Given the description of an element on the screen output the (x, y) to click on. 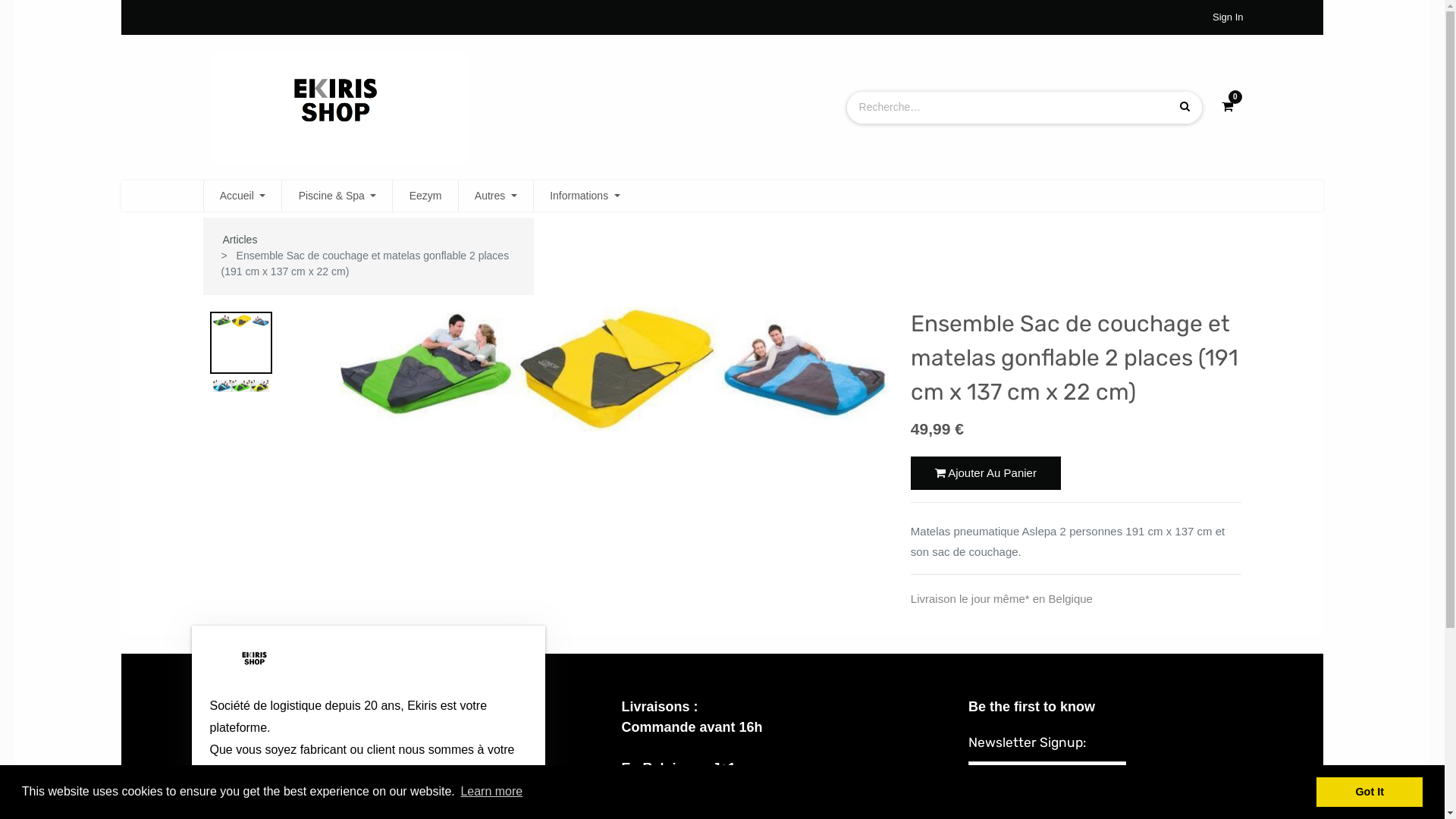
Ekiris eCommerce Element type: hover (254, 658)
Learn more Element type: text (491, 791)
Accueil Element type: text (241, 196)
Sign In Element type: text (1227, 17)
Articles Element type: text (240, 239)
Eezym Element type: text (424, 196)
Subscribe Element type: text (1165, 778)
Informations Element type: text (584, 196)
Autres Element type: text (495, 196)
Ajouter Au Panier Element type: text (985, 472)
Piscine & Spa Element type: text (336, 196)
Got It Element type: text (1369, 791)
0 Element type: text (1226, 106)
Rechercher Element type: hover (1184, 107)
Ekiris eCommerce Element type: hover (338, 105)
